Given the description of an element on the screen output the (x, y) to click on. 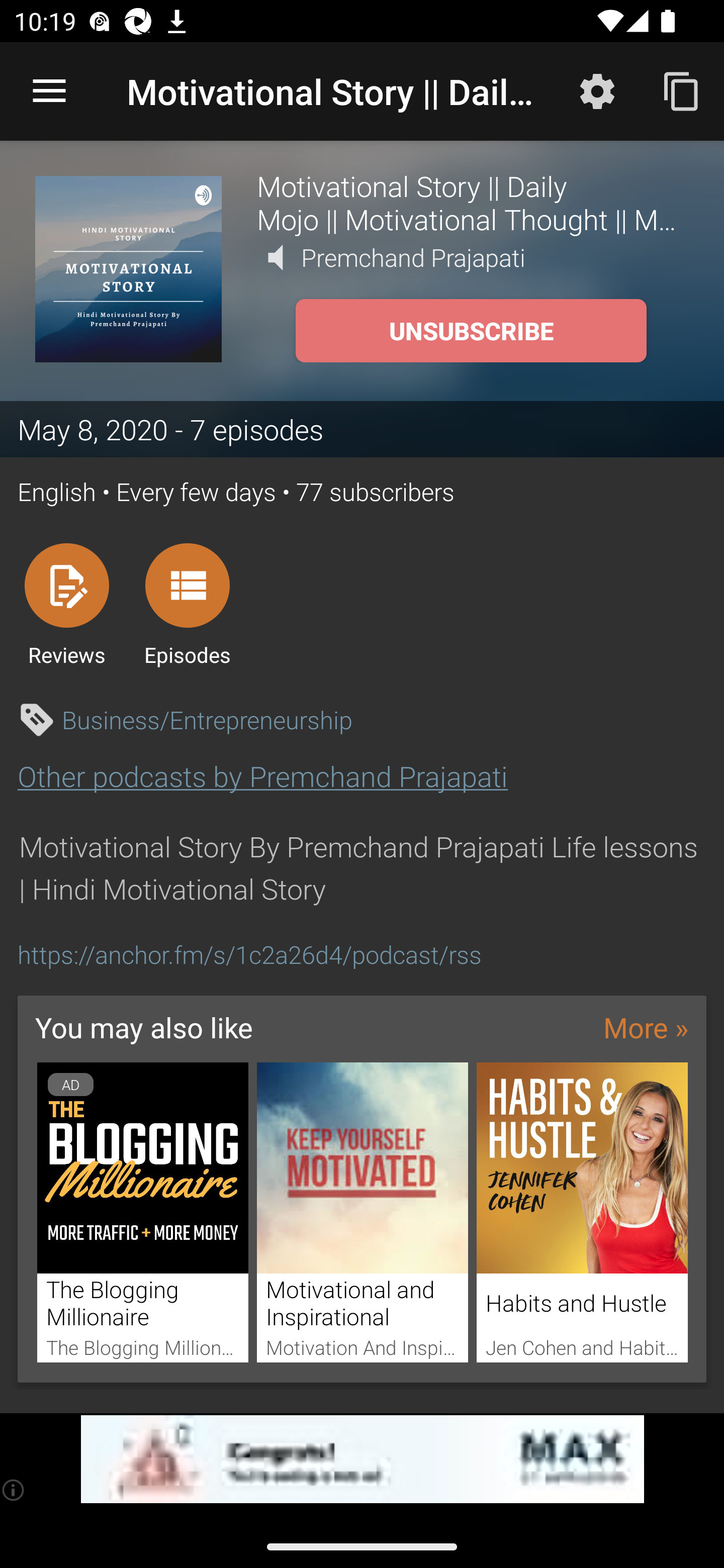
Open navigation sidebar (49, 91)
Settings (597, 90)
Copy feed url to clipboard (681, 90)
UNSUBSCRIBE (470, 330)
Reviews (66, 604)
Episodes (187, 604)
Other podcasts by Premchand Prajapati (262, 775)
More » (645, 1026)
Habits and Hustle Jen Cohen and Habit Nest (581, 1212)
app-monetization (362, 1459)
(i) (14, 1489)
